Given the description of an element on the screen output the (x, y) to click on. 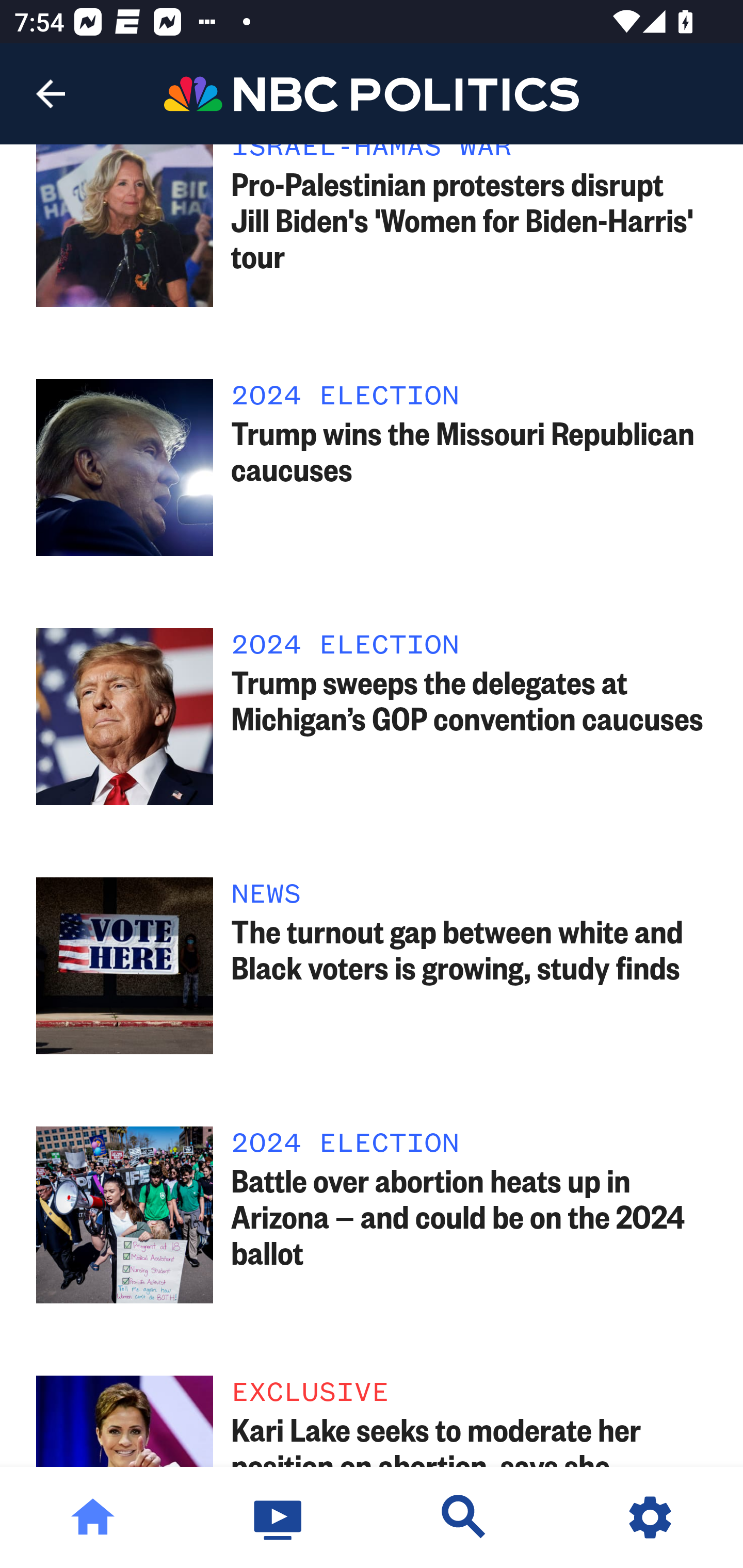
Navigate up (50, 93)
Watch (278, 1517)
Discover (464, 1517)
Settings (650, 1517)
